Given the description of an element on the screen output the (x, y) to click on. 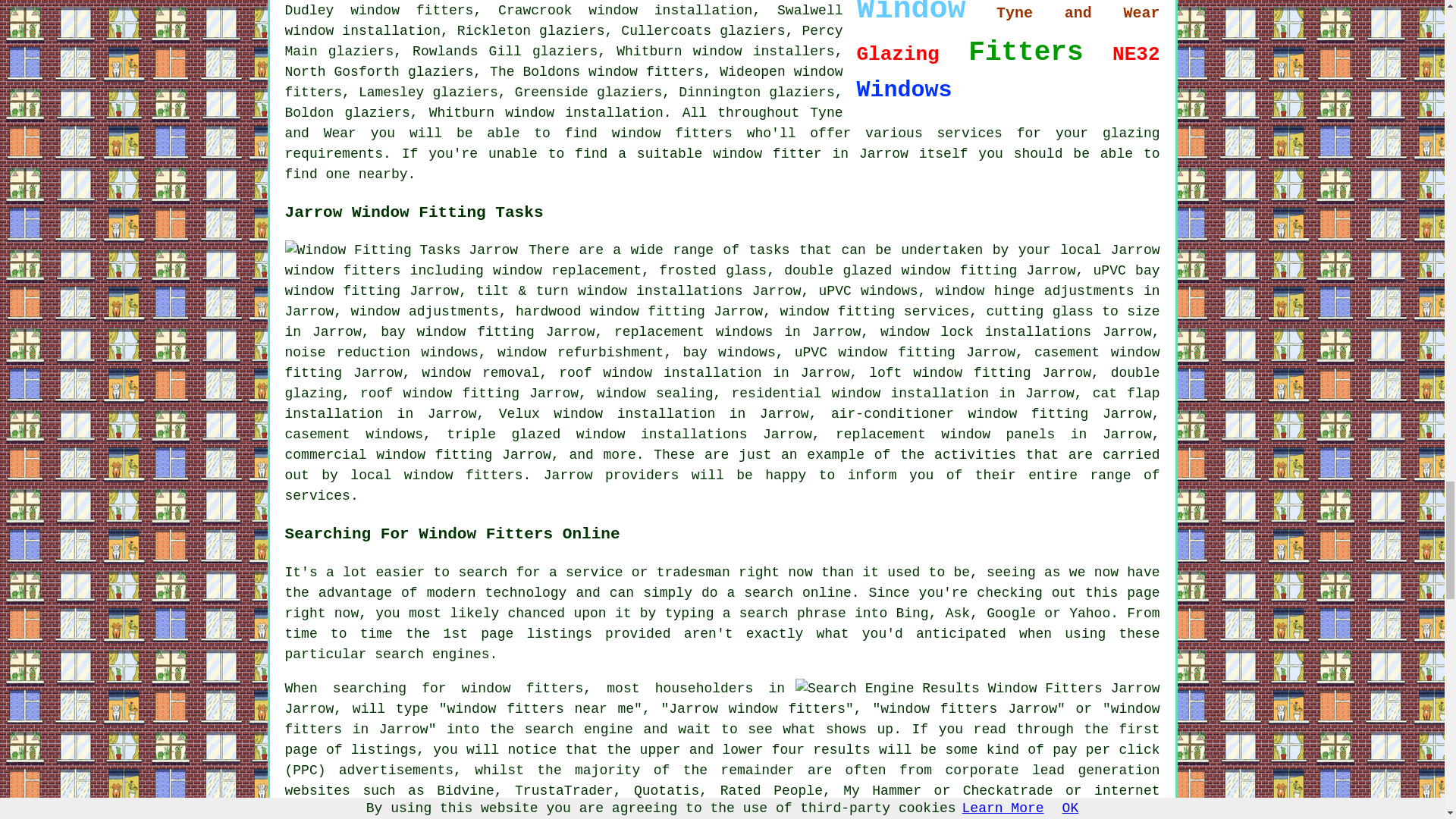
Search Engine Results Window Fitters Jarrow (976, 688)
glaziers (564, 51)
window installation (670, 10)
Window Fitting Tasks Jarrow (401, 250)
